Given the description of an element on the screen output the (x, y) to click on. 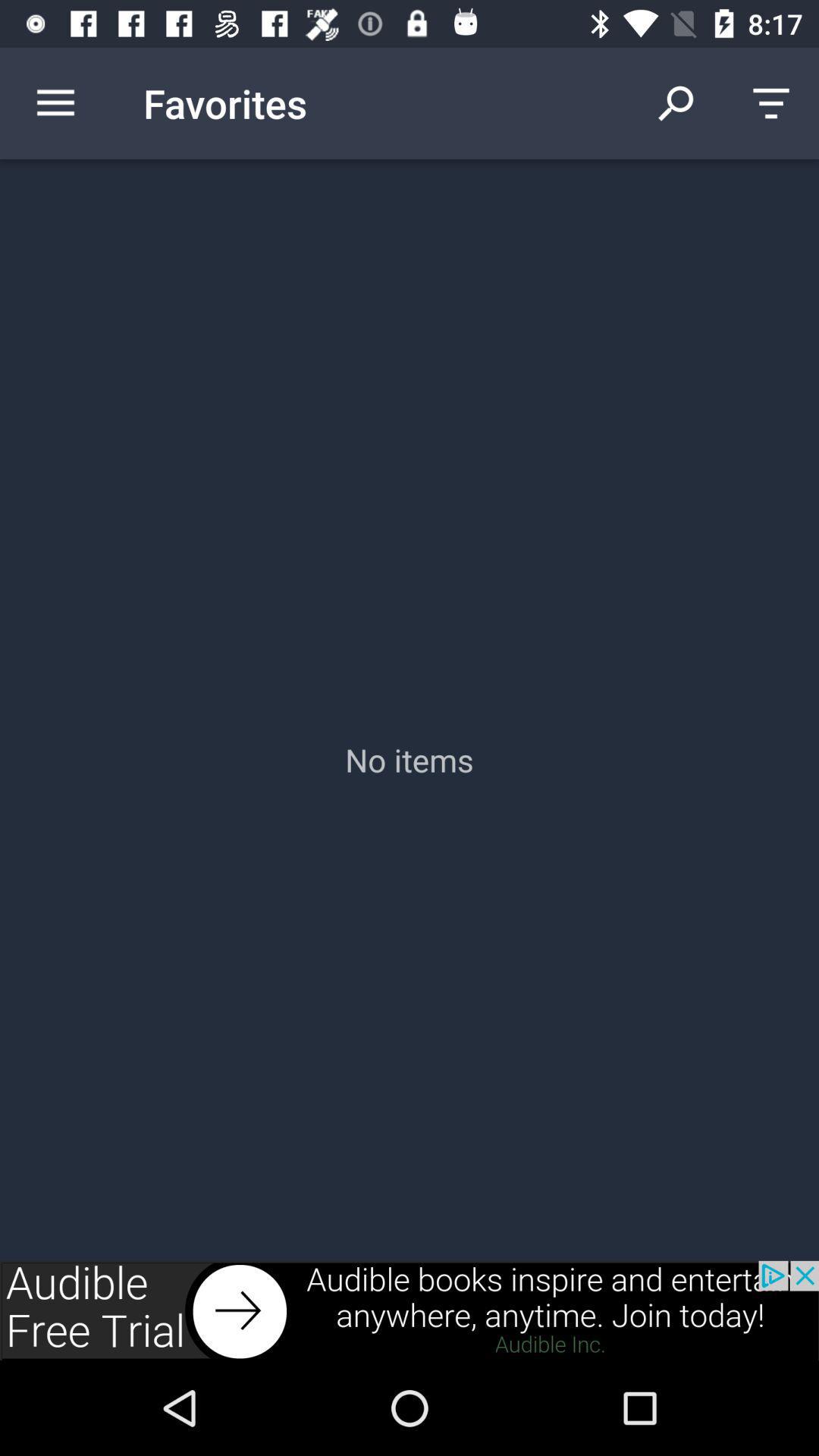
go to advertisement (409, 1310)
